Given the description of an element on the screen output the (x, y) to click on. 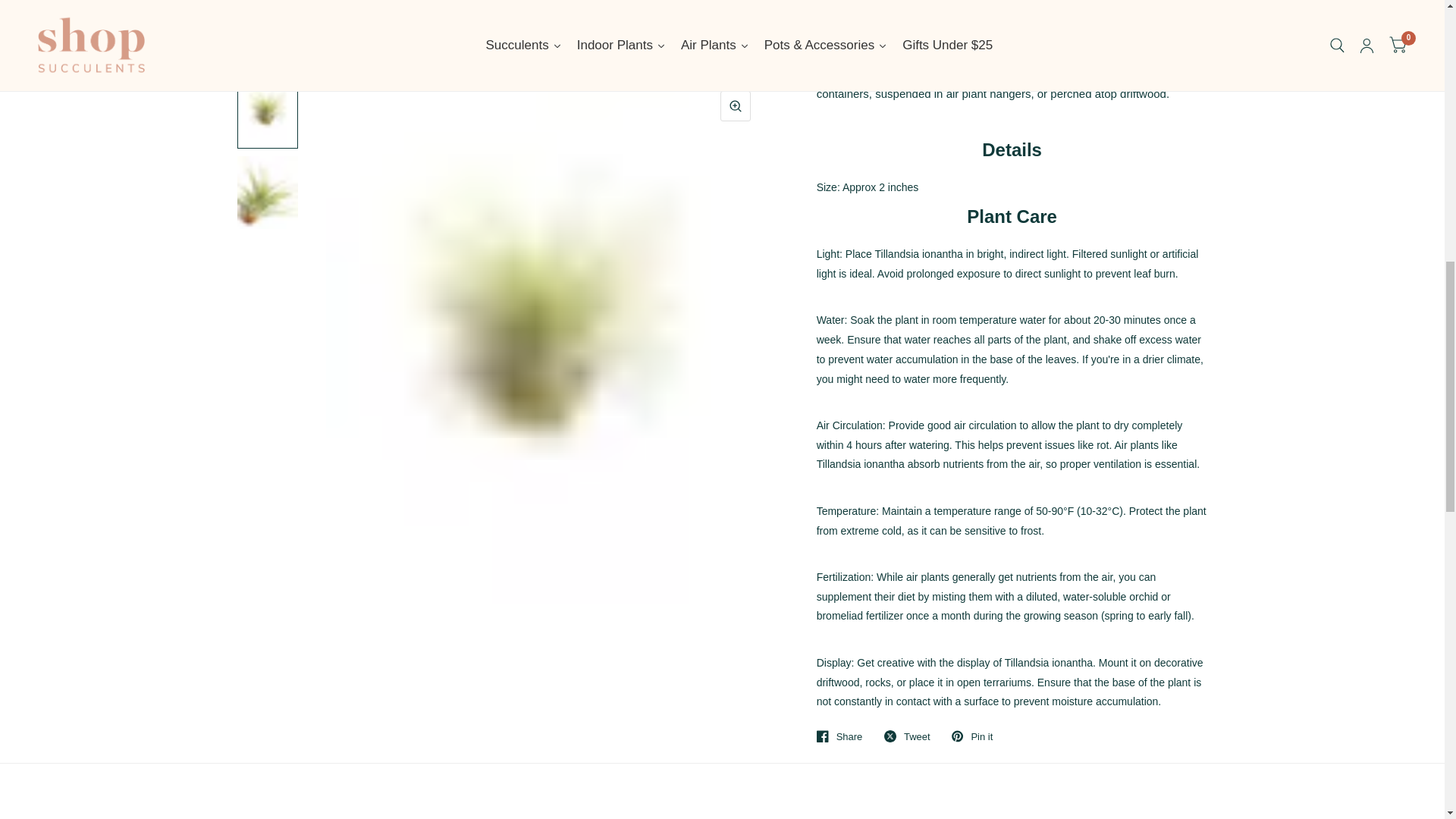
Share (839, 736)
Pin it (972, 736)
Tweet (906, 736)
